Given the description of an element on the screen output the (x, y) to click on. 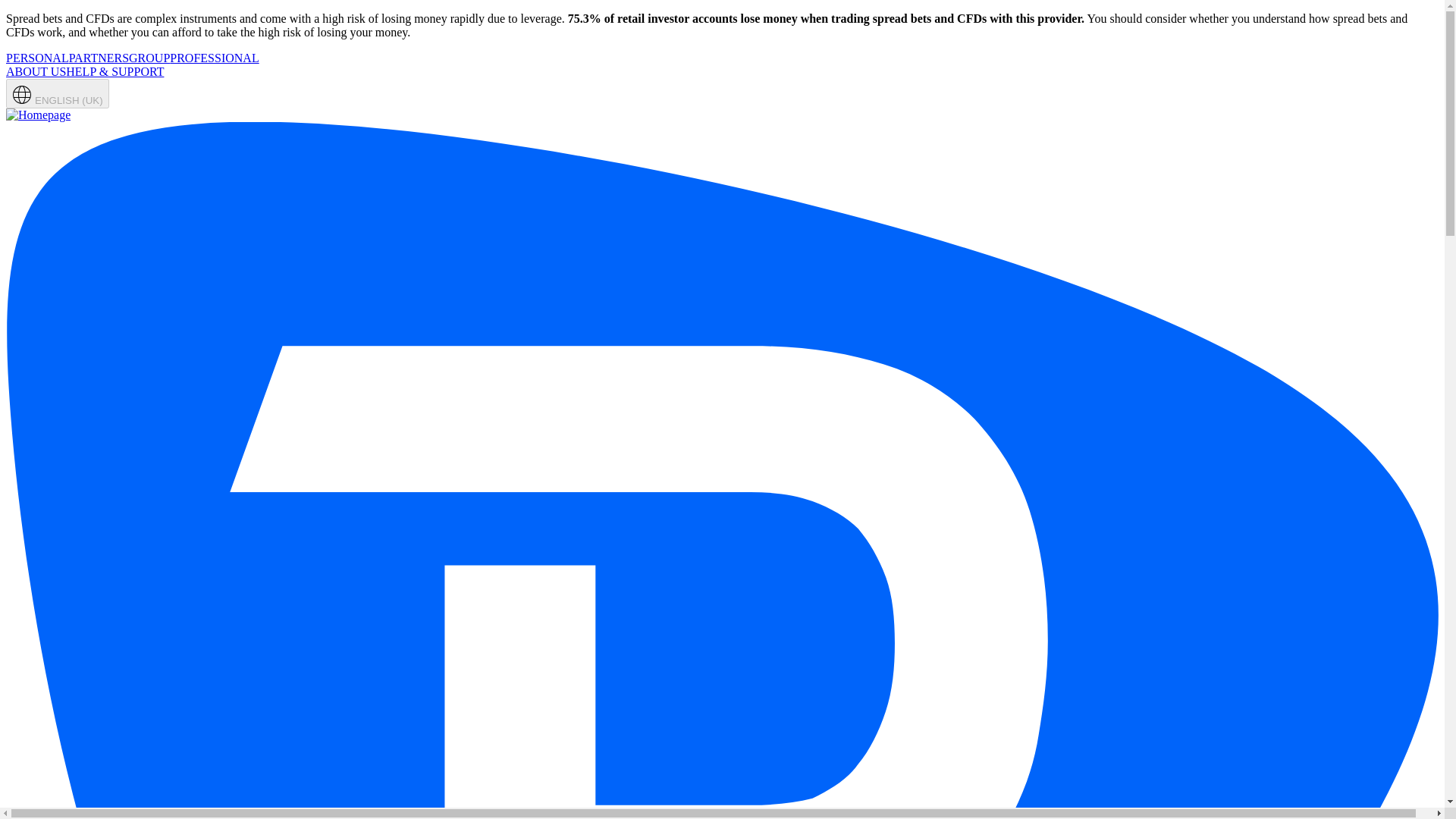
PERSONAL (36, 57)
PARTNERS (98, 57)
ABOUT US (35, 71)
ABOUT US (35, 71)
GROUP (149, 57)
PROFESSIONAL (214, 57)
PARTNERS (98, 57)
PROFESSIONAL (214, 57)
PERSONAL (36, 57)
GROUP (149, 57)
Homepage (37, 114)
